Given the description of an element on the screen output the (x, y) to click on. 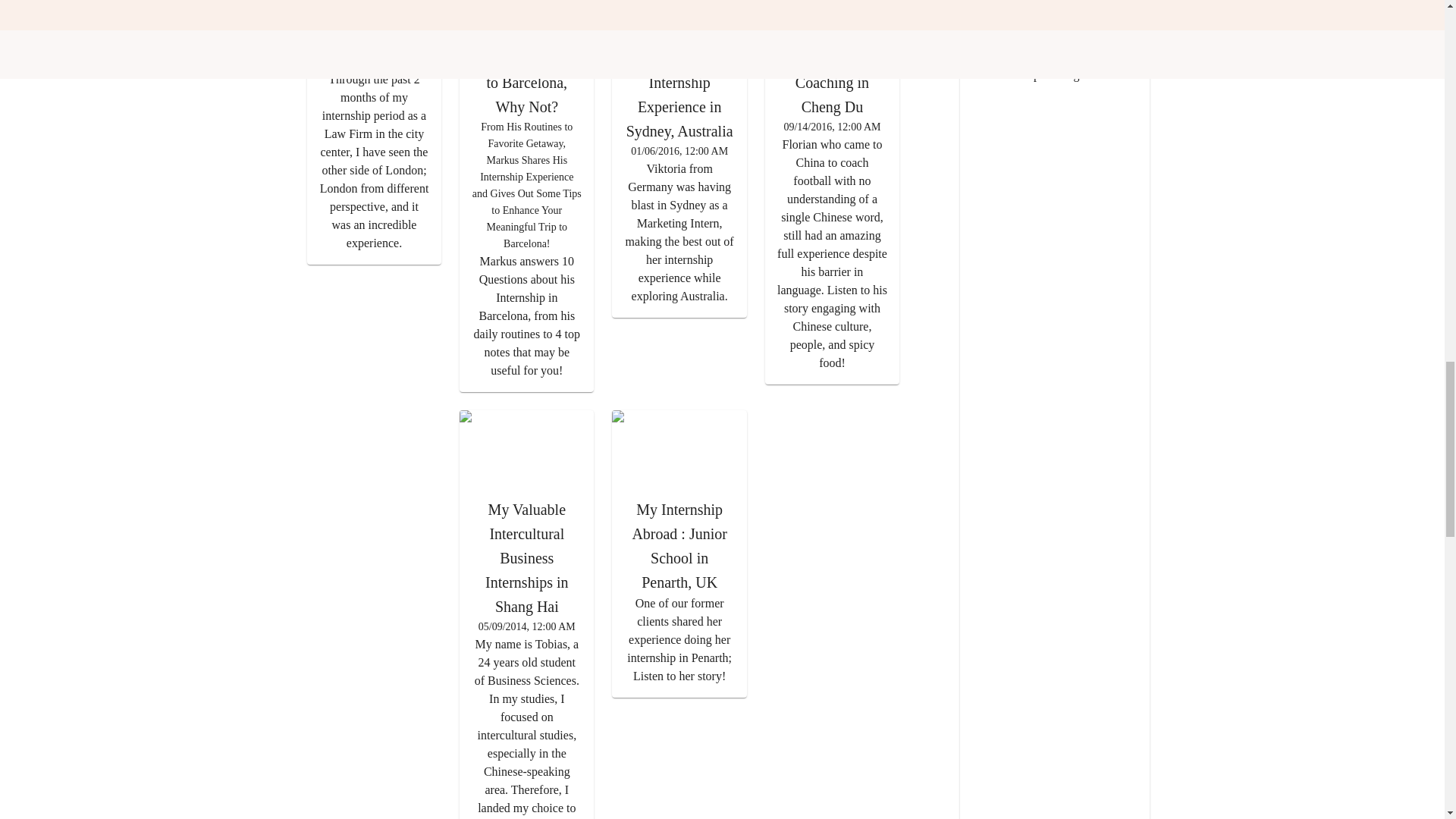
Internships in England (1045, 75)
